Given the description of an element on the screen output the (x, y) to click on. 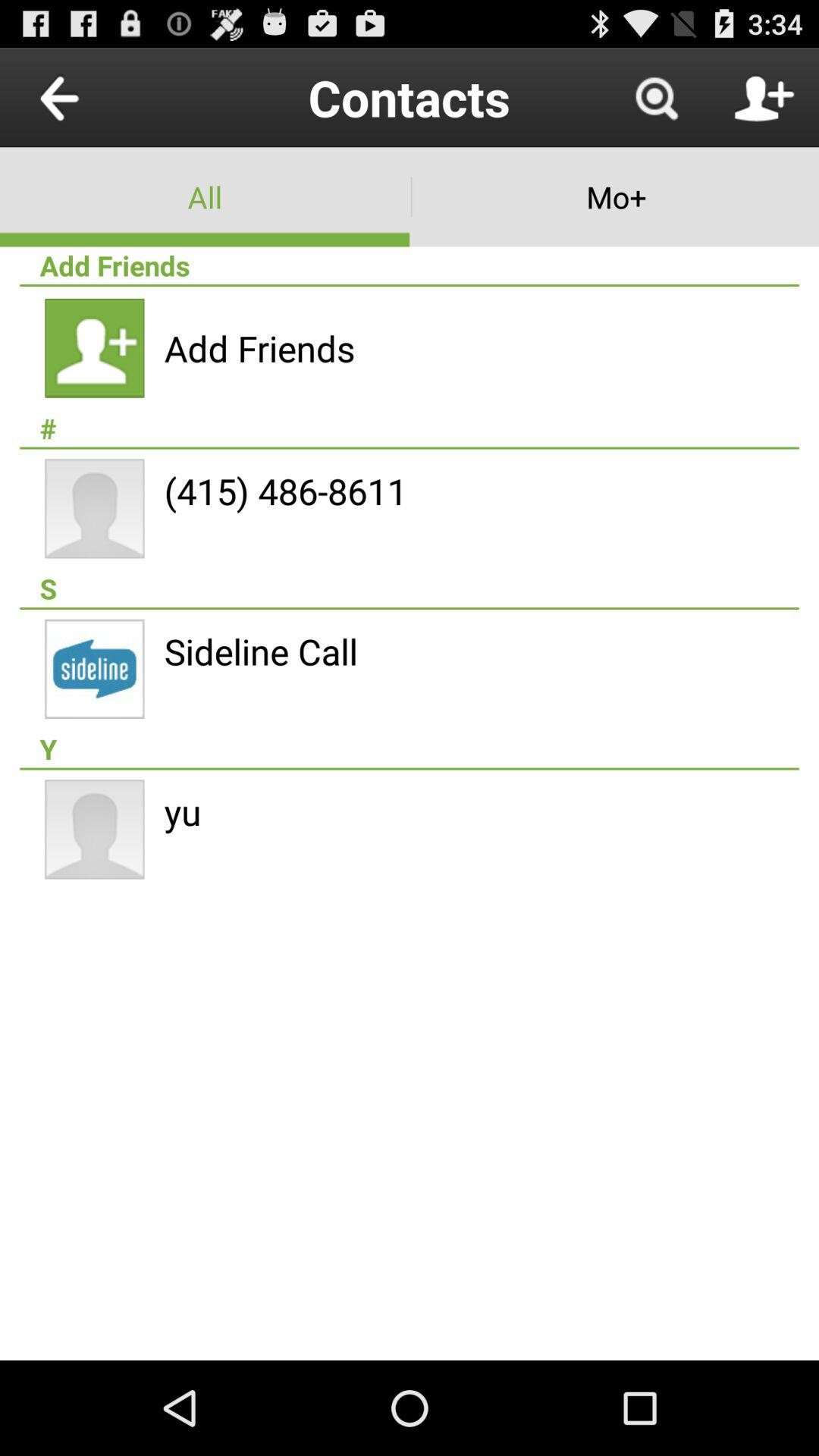
add contact (764, 97)
